Given the description of an element on the screen output the (x, y) to click on. 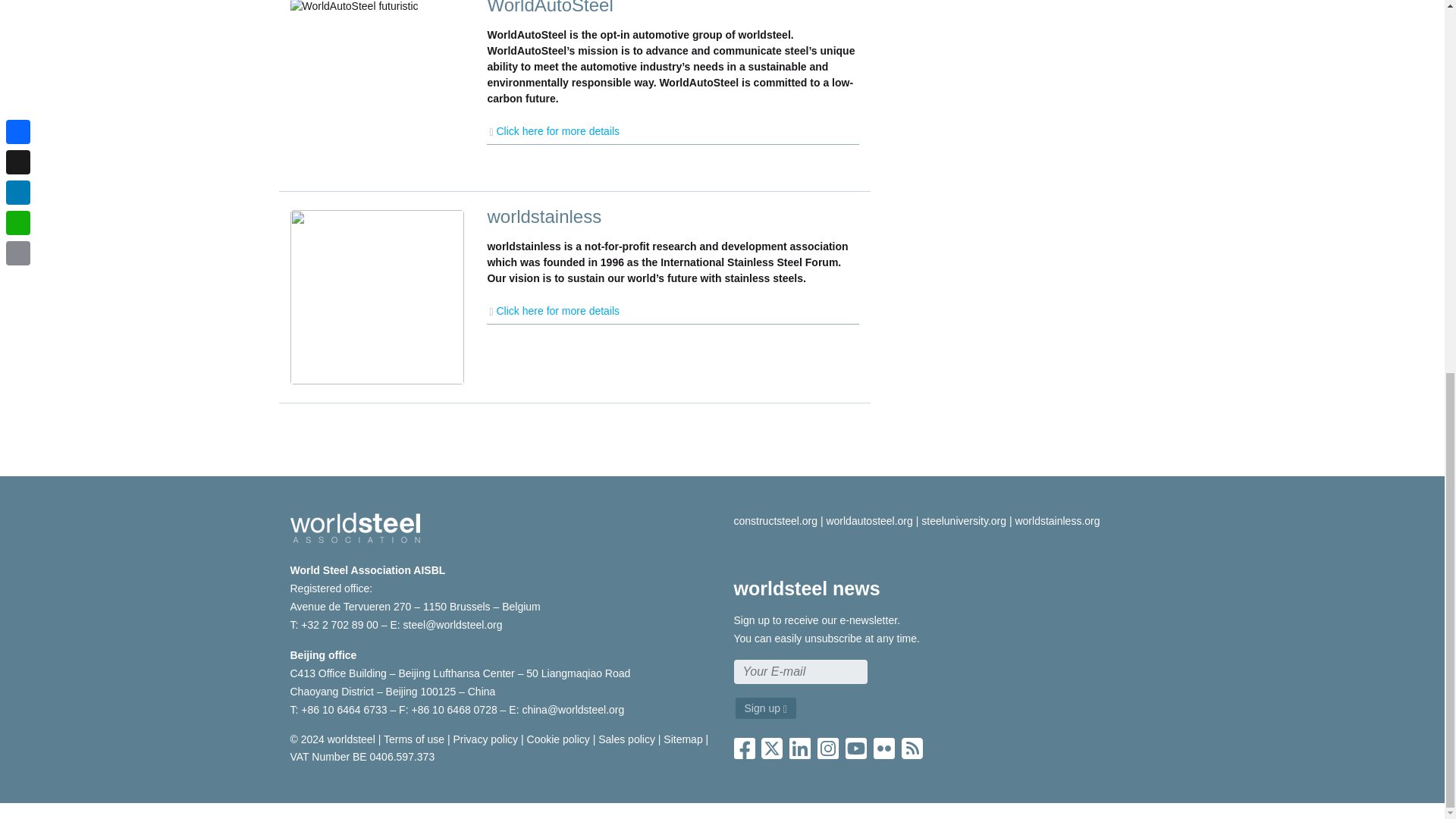
Sales policy (626, 739)
Click here for more details (672, 311)
Click here for more details (672, 131)
Cookie policy (558, 739)
Terms of use (414, 739)
Sitemap (682, 739)
VAT Number BE 0406.597.373 (361, 756)
Privacy policy (485, 739)
